Given the description of an element on the screen output the (x, y) to click on. 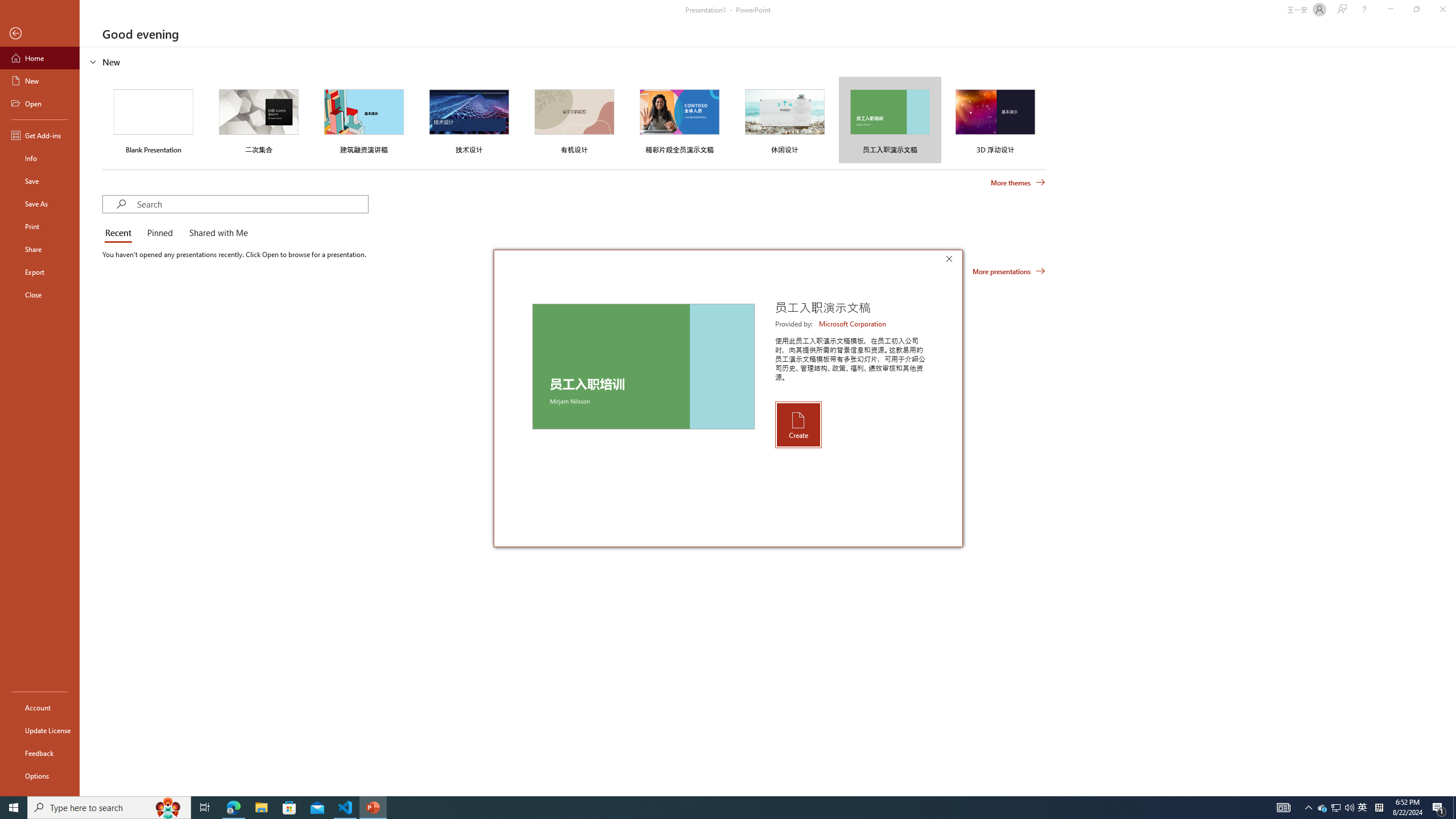
Export (40, 271)
Hide or show region (92, 61)
